Given the description of an element on the screen output the (x, y) to click on. 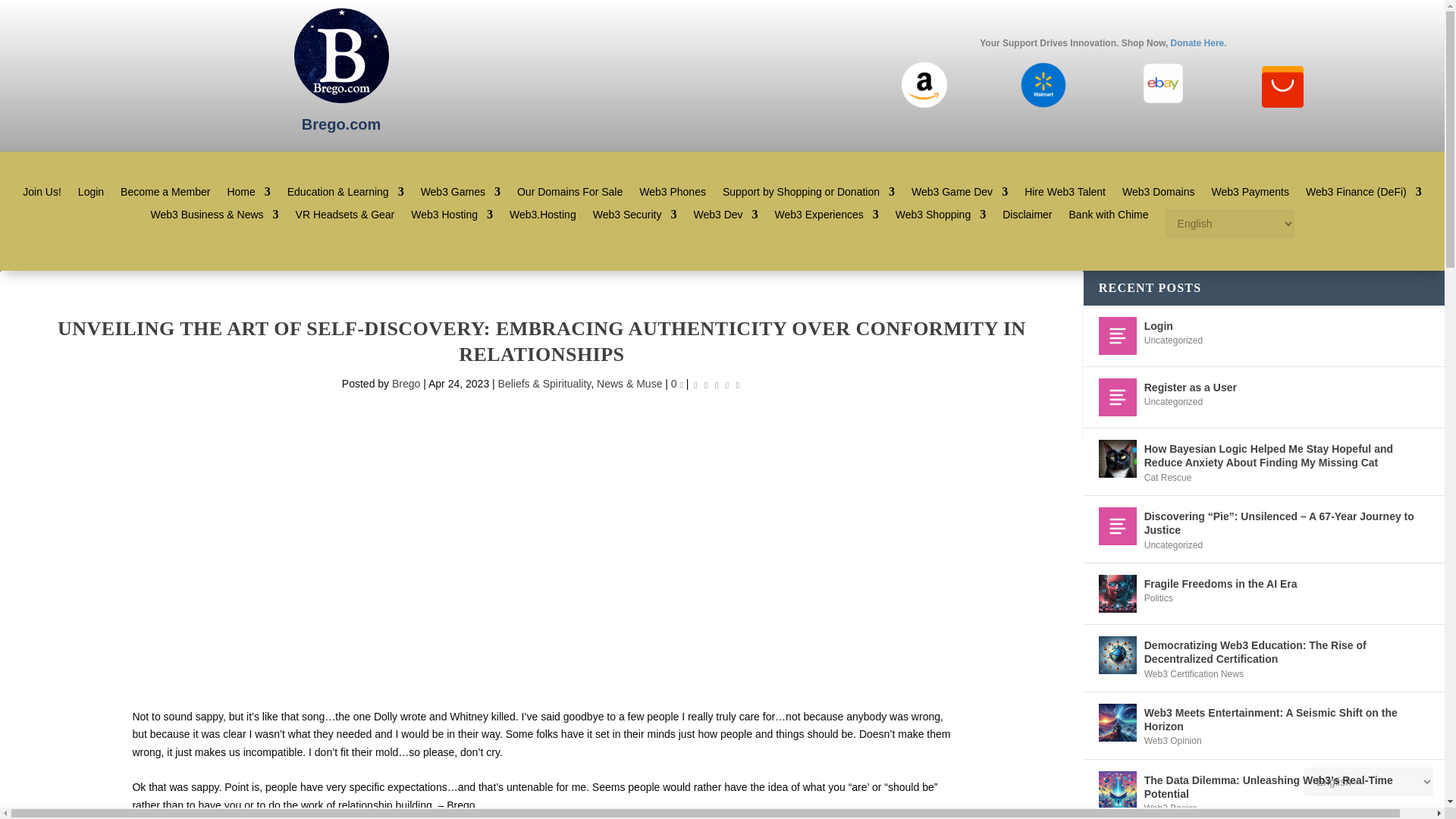
little-brego-sphere-logo-circle-round (341, 55)
Rating: 0.00 (716, 384)
Shop Ebay (1163, 104)
Shop AliExpress (1282, 104)
Login (90, 194)
Donate Here. (1198, 42)
Shop Amazon (924, 104)
Posts by Brego (405, 383)
Home (248, 194)
Join Us! (42, 194)
Web3 Games (460, 194)
Become a Member (164, 194)
Shop Walmart (1042, 104)
Donate to Brego.com (1198, 42)
